Given the description of an element on the screen output the (x, y) to click on. 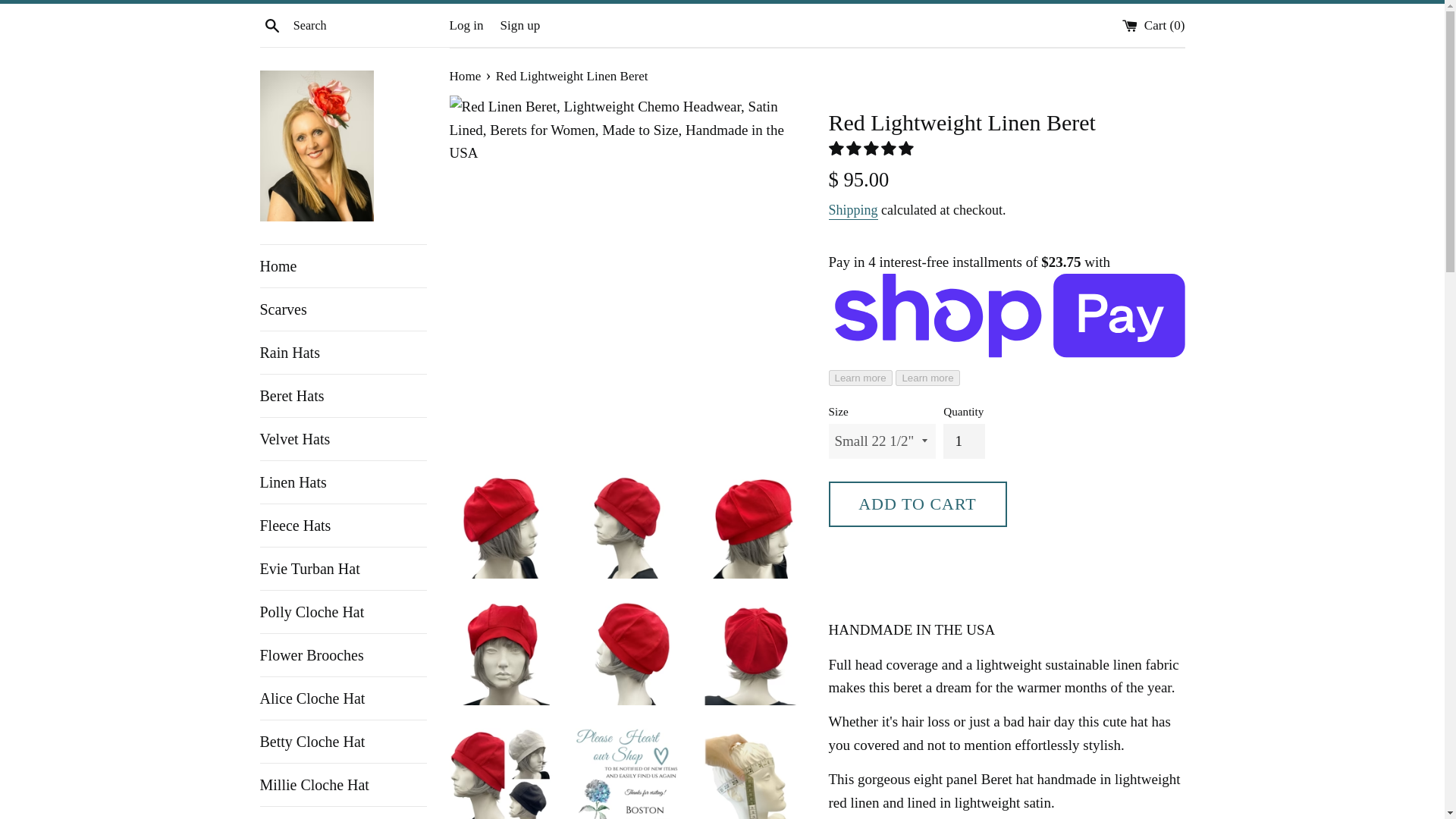
Evie Turban Hat (342, 568)
Velvet Hats (342, 438)
Back to the frontpage (465, 75)
Linen Hats (342, 482)
Sign up (520, 25)
Millie Cloche Hat (342, 784)
Search (271, 24)
Scarves (342, 309)
Home (342, 265)
Polly Cloche Hat (342, 611)
